Given the description of an element on the screen output the (x, y) to click on. 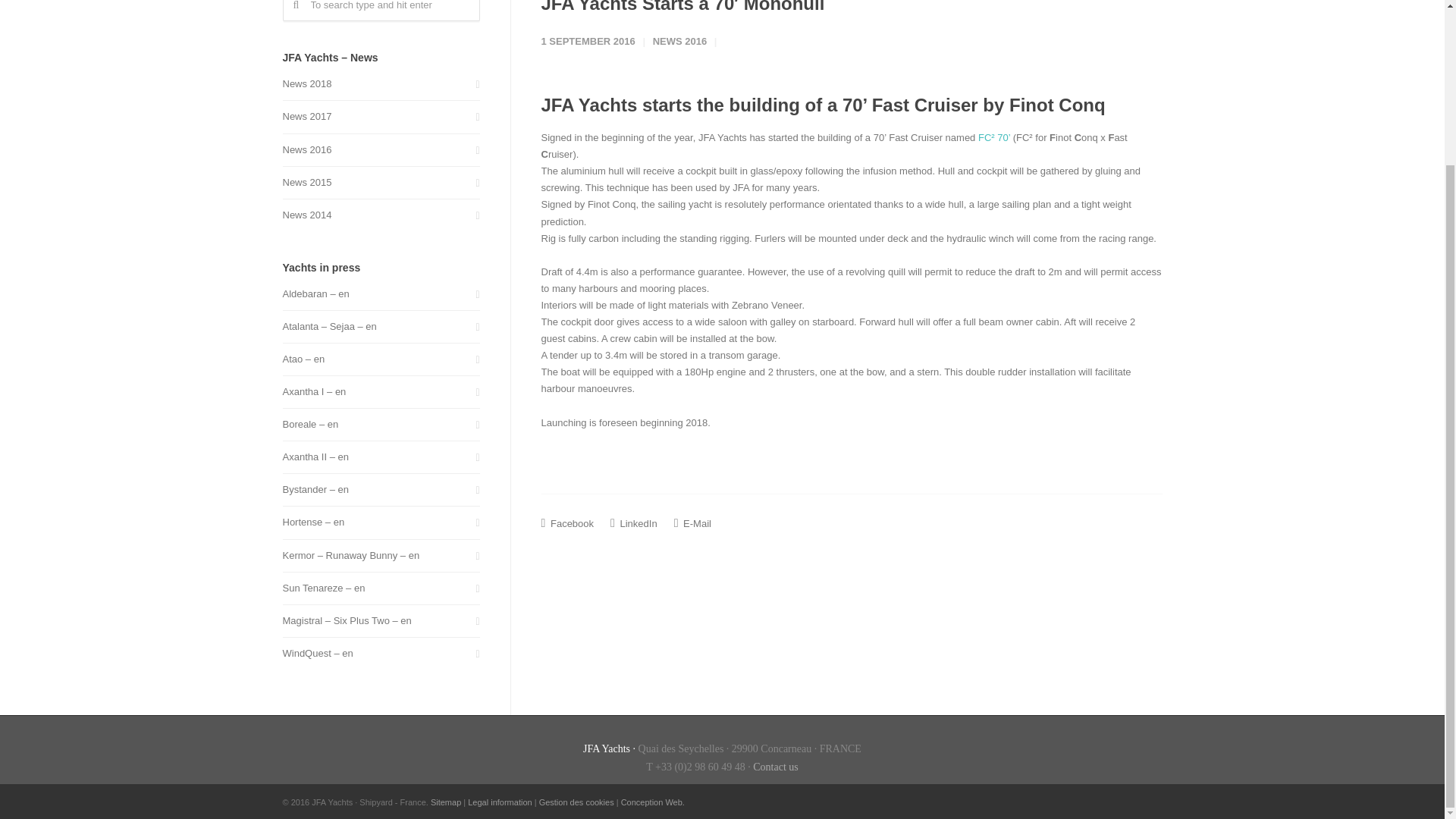
View all posts filed under News 2015 (306, 182)
Share via E-Mail (692, 523)
To search type and hit enter (380, 11)
View all posts filed under News 2018 (306, 84)
View all posts filed under News 2016 (306, 149)
Share via Facebook (567, 523)
View all posts filed under News 2014 (306, 215)
Share via LinkedIn (634, 523)
View all posts filed under News 2017 (306, 116)
